Given the description of an element on the screen output the (x, y) to click on. 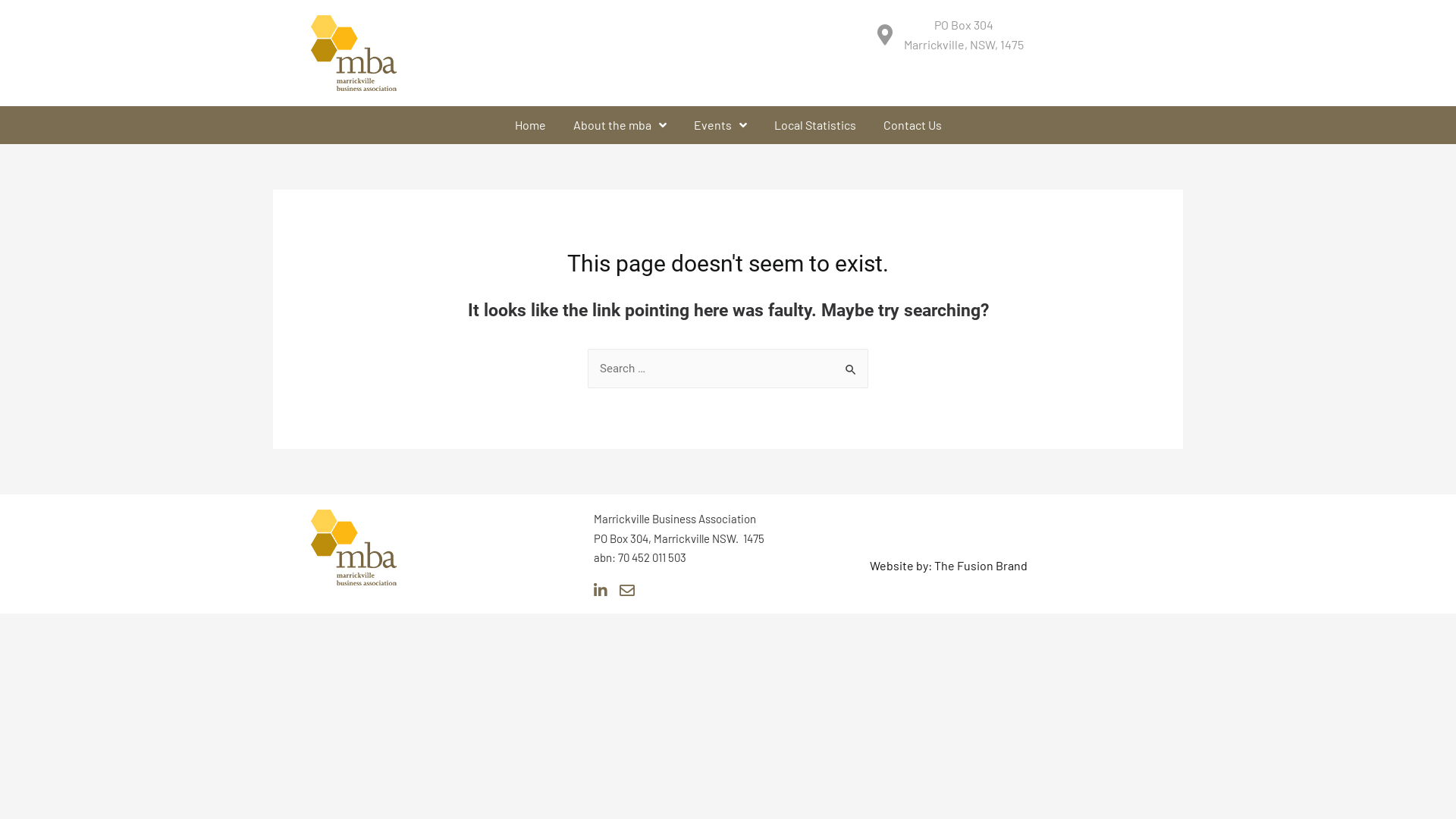
About the mba Element type: text (618, 124)
Local Statistics Element type: text (815, 124)
The Fusion Brand Element type: text (980, 565)
Contact Us Element type: text (912, 124)
Home Element type: text (530, 124)
Events Element type: text (719, 124)
Search Element type: text (851, 363)
